Given the description of an element on the screen output the (x, y) to click on. 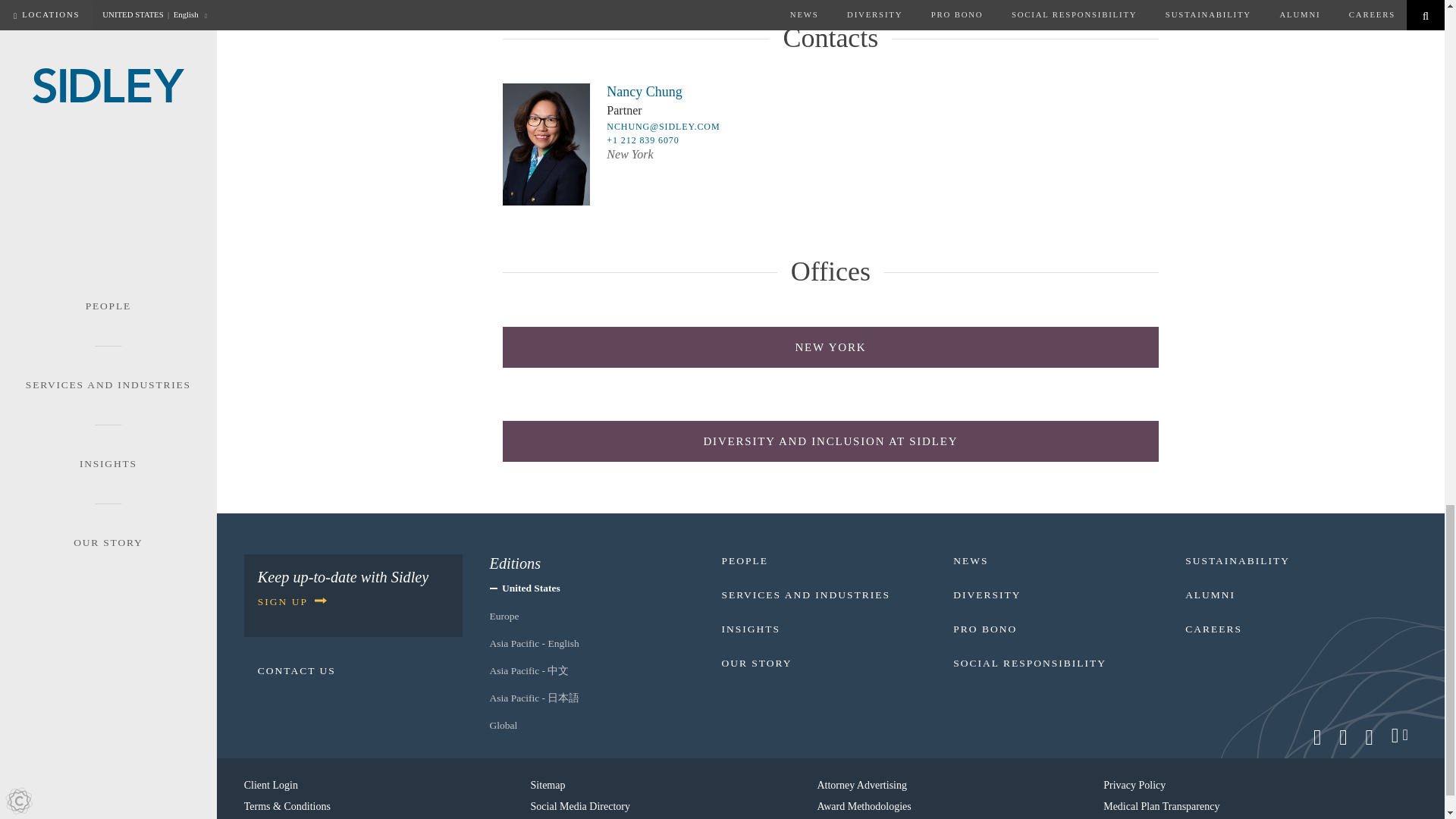
NEW YORK (830, 346)
CONTACT US (296, 670)
DIVERSITY AND INCLUSION AT SIDLEY (830, 440)
SIGN UP (291, 601)
Nancy Chung (644, 91)
